Given the description of an element on the screen output the (x, y) to click on. 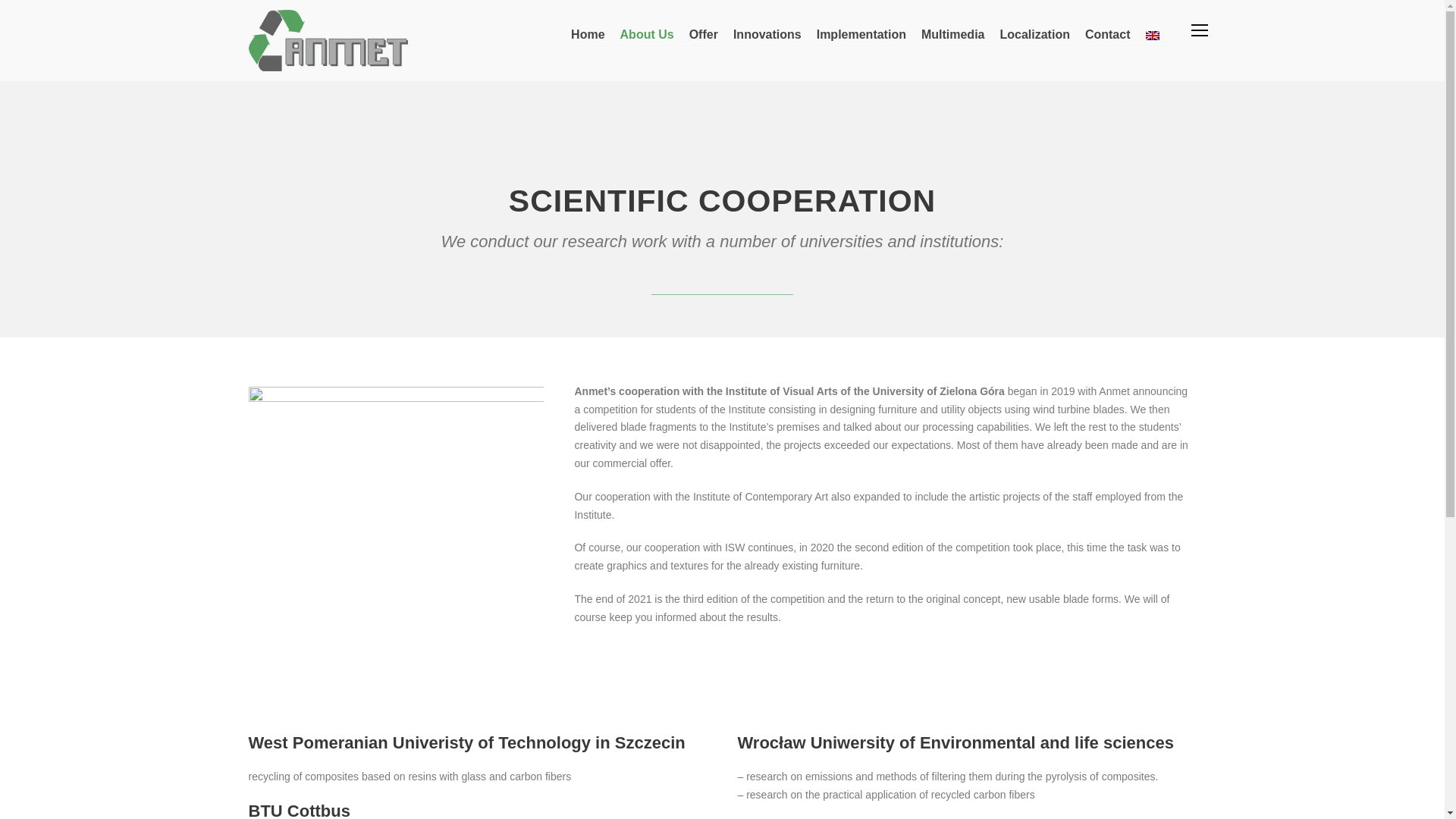
English (1151, 35)
Innovations (767, 41)
About Us (647, 41)
Home (587, 41)
